Given the description of an element on the screen output the (x, y) to click on. 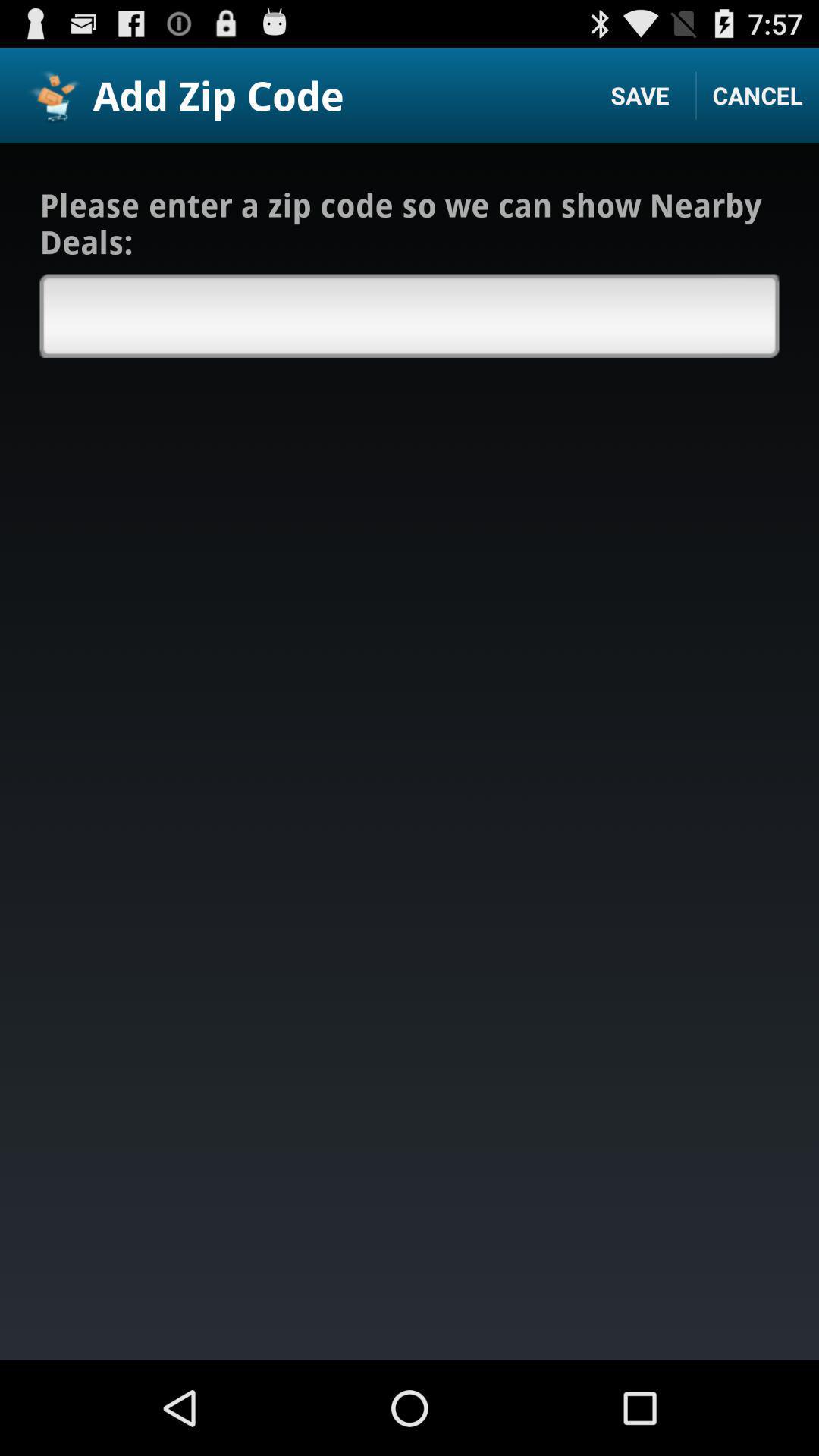
enter box (409, 315)
